Given the description of an element on the screen output the (x, y) to click on. 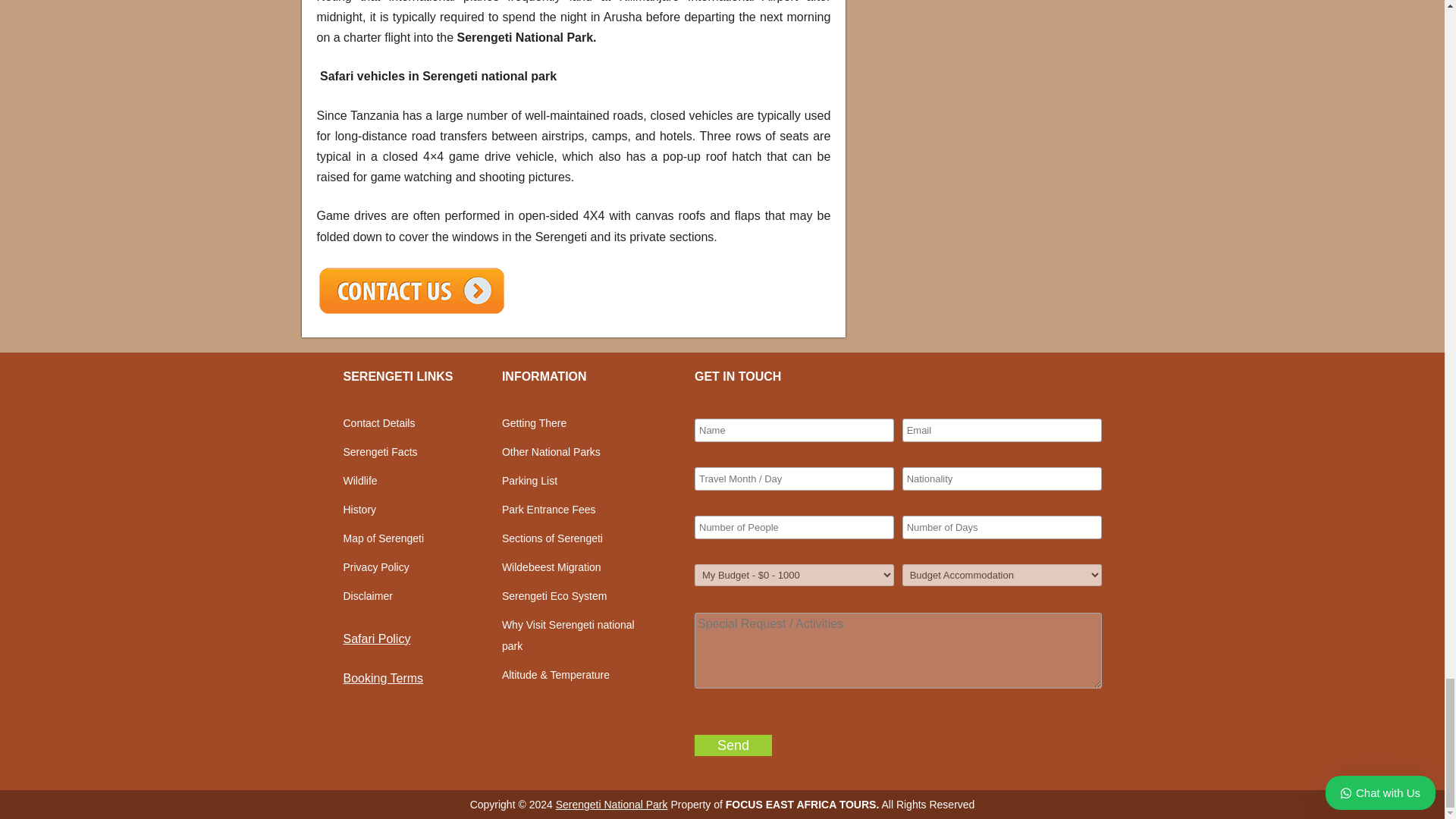
Send (732, 744)
